Given the description of an element on the screen output the (x, y) to click on. 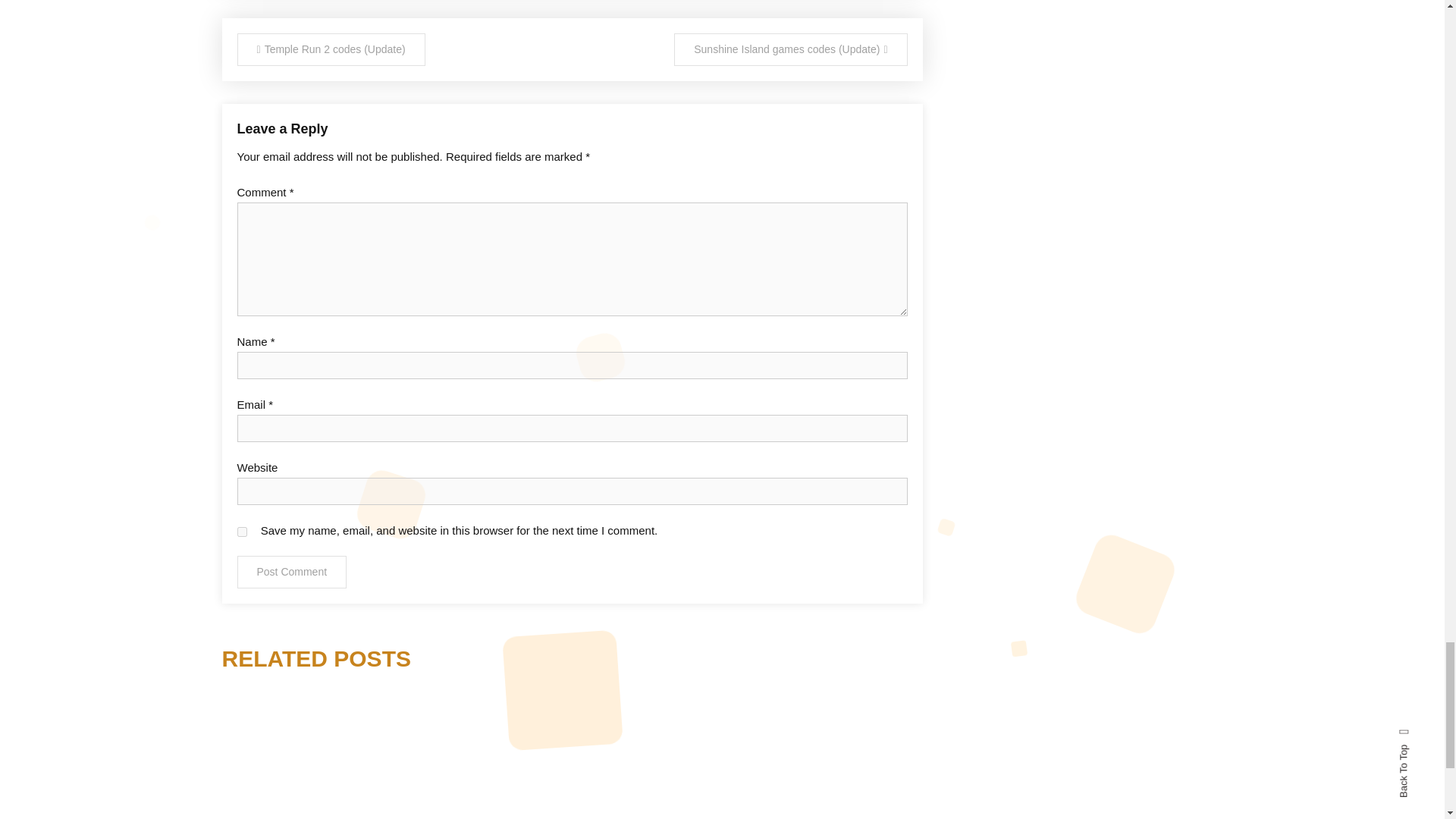
Post Comment (290, 572)
yes (240, 532)
